Given the description of an element on the screen output the (x, y) to click on. 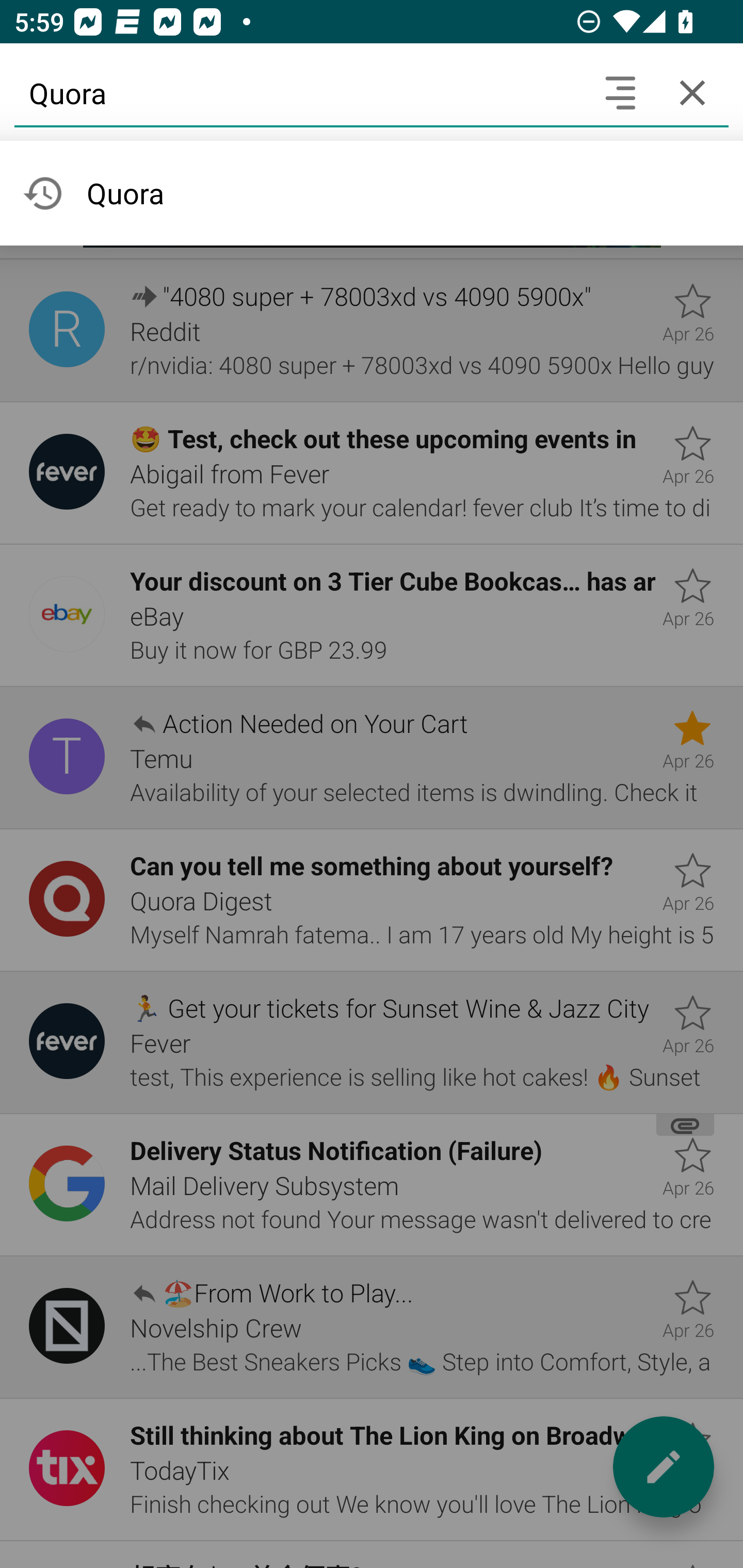
Quora (298, 92)
Search headers and text (619, 92)
Cancel (692, 92)
